Given the description of an element on the screen output the (x, y) to click on. 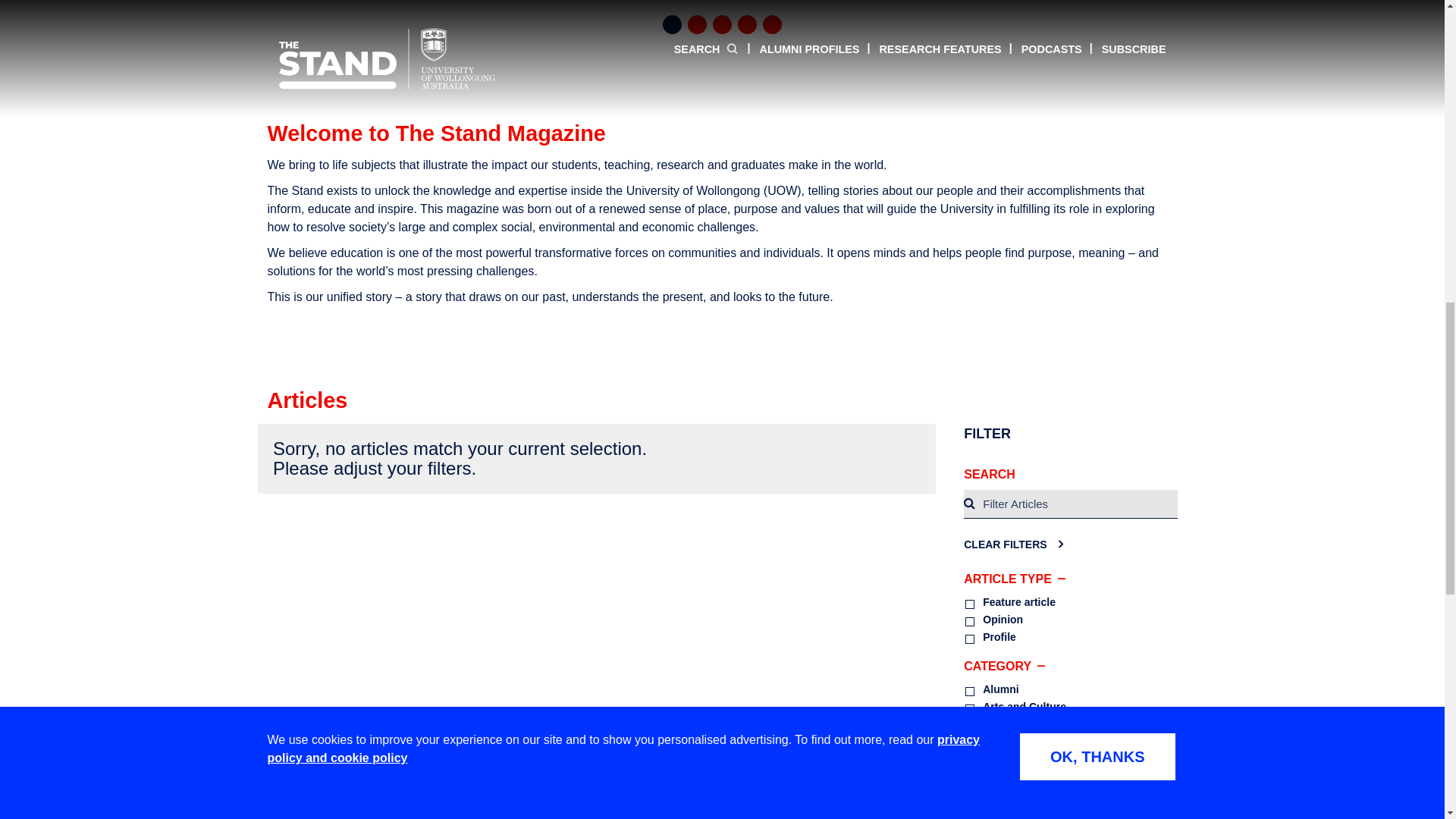
CLEAR FILTERS (1012, 543)
